Given the description of an element on the screen output the (x, y) to click on. 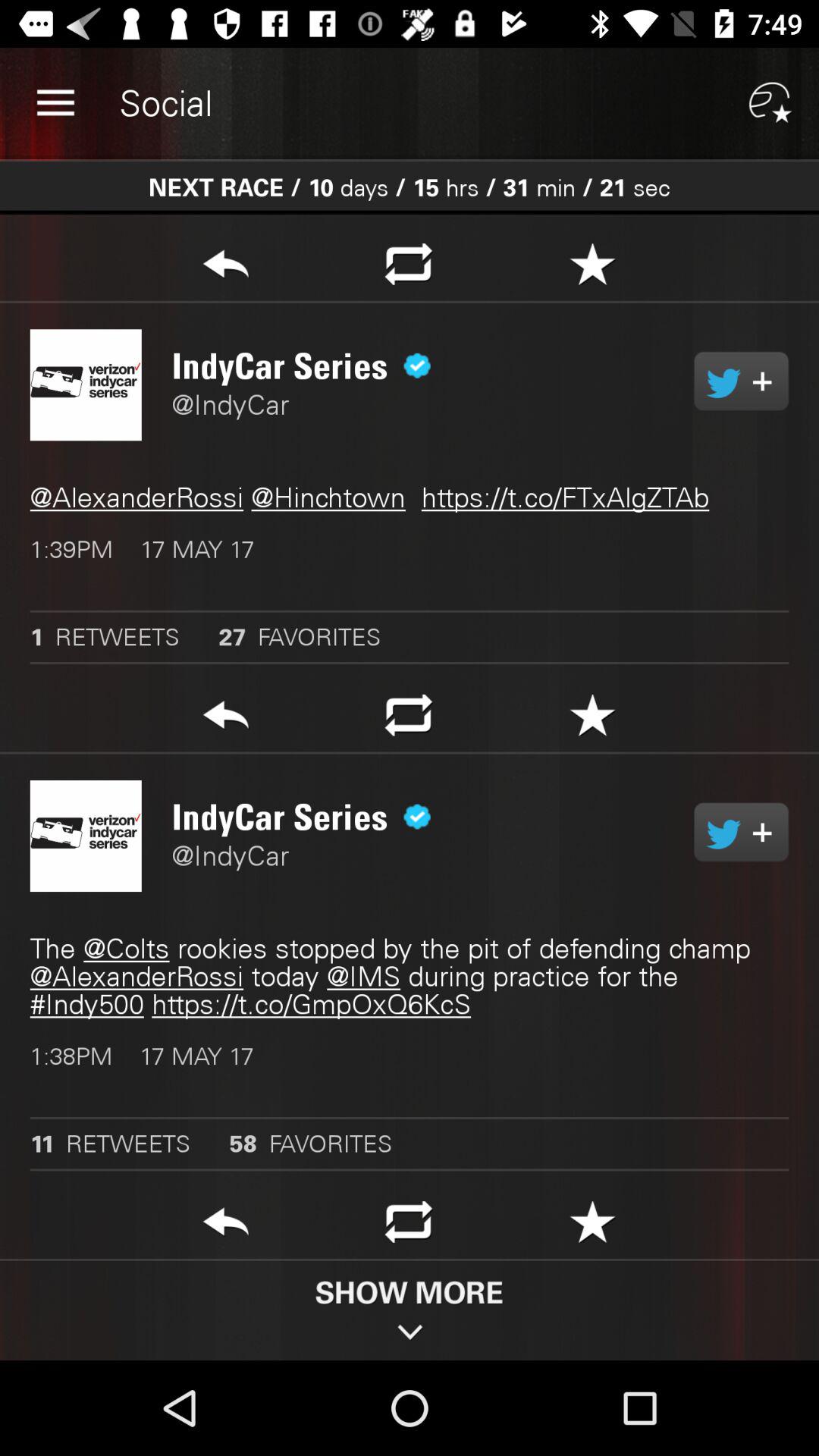
favorite (592, 1226)
